Given the description of an element on the screen output the (x, y) to click on. 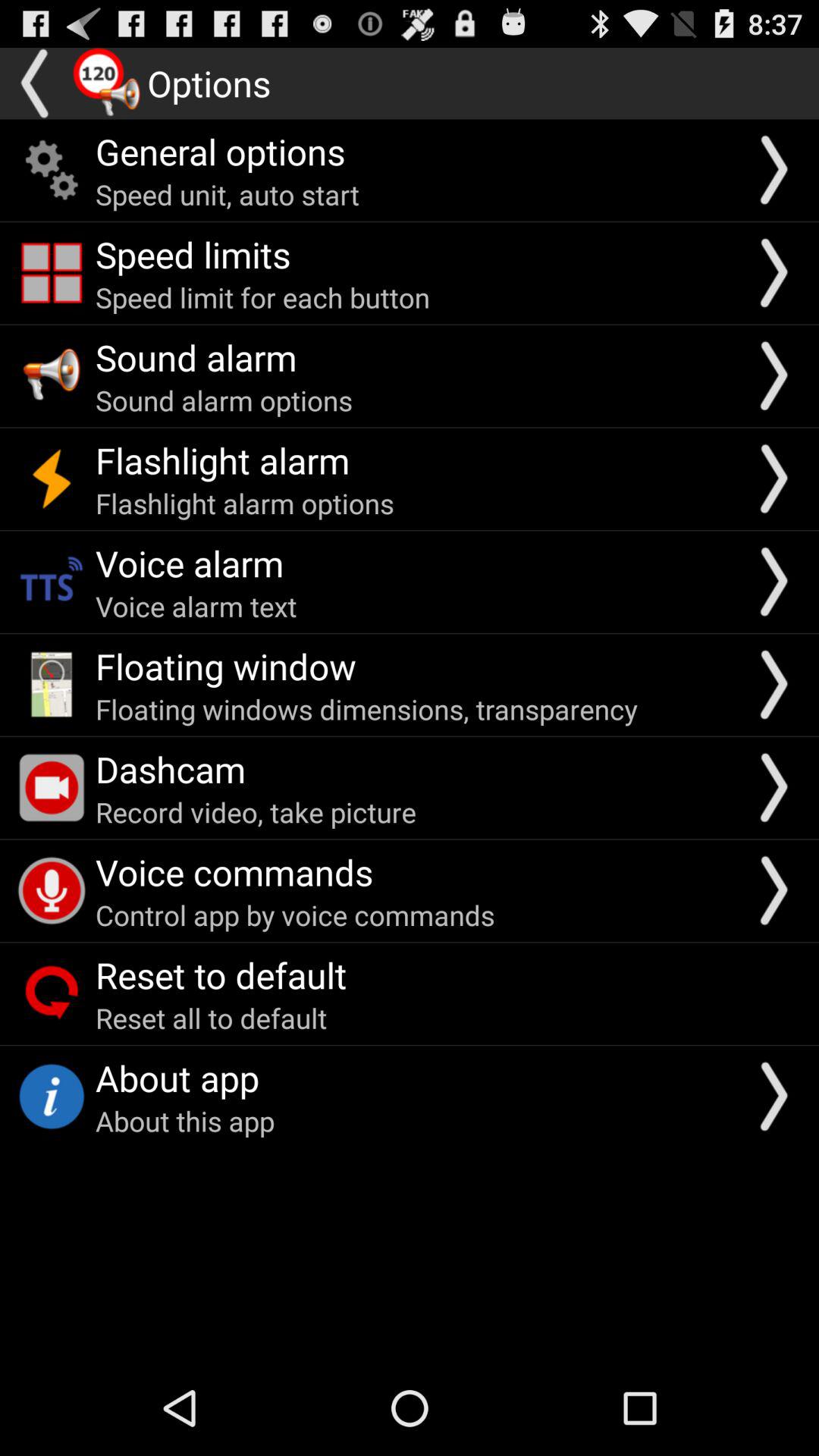
tap item below general options (227, 194)
